Given the description of an element on the screen output the (x, y) to click on. 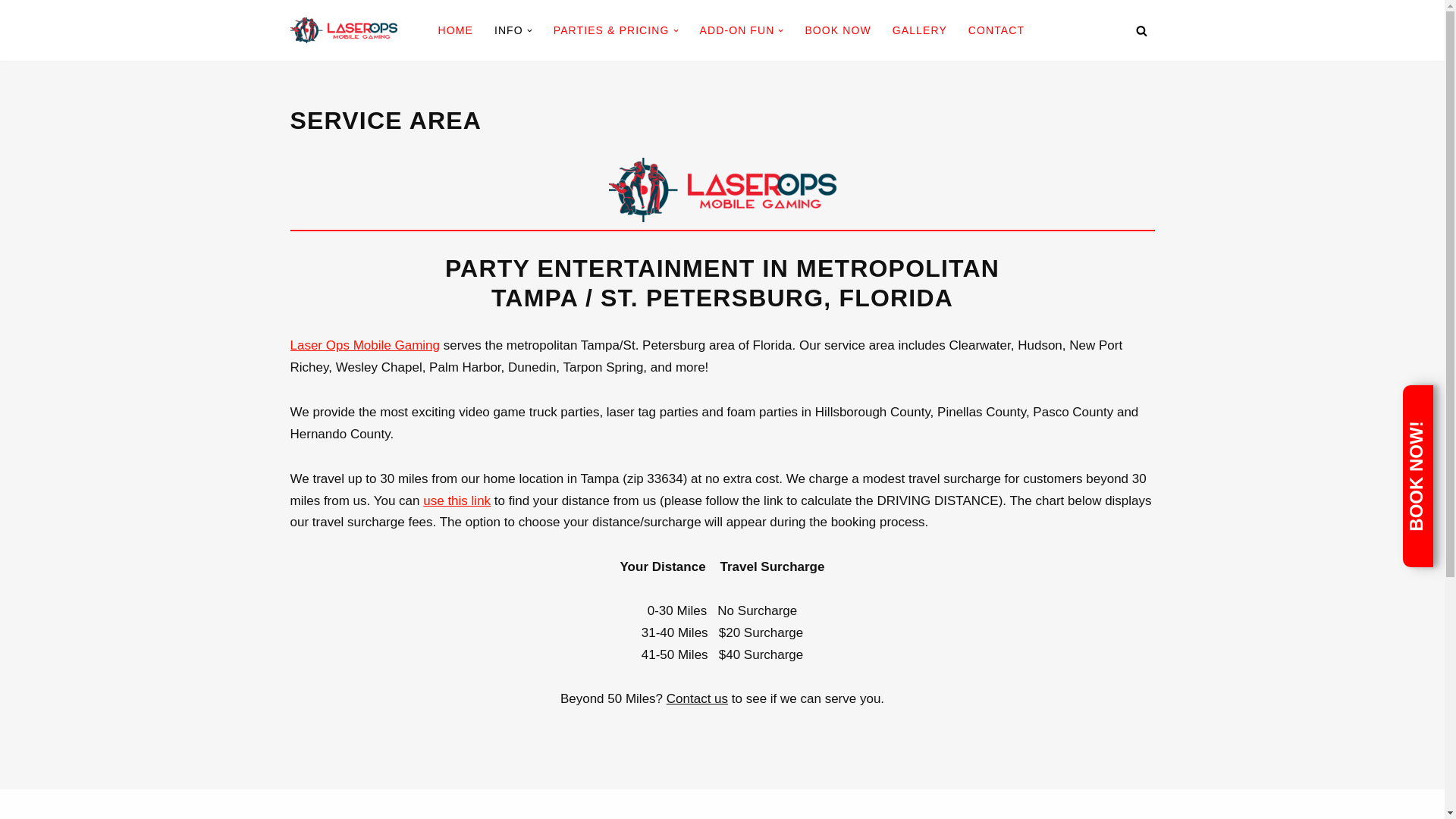
INFO (508, 30)
GALLERY (919, 30)
ADD-ON FUN (737, 30)
BOOK NOW (837, 30)
Navigation Menu (1418, 18)
Skip to content (11, 31)
CONTACT (996, 30)
HOME (455, 30)
